Given the description of an element on the screen output the (x, y) to click on. 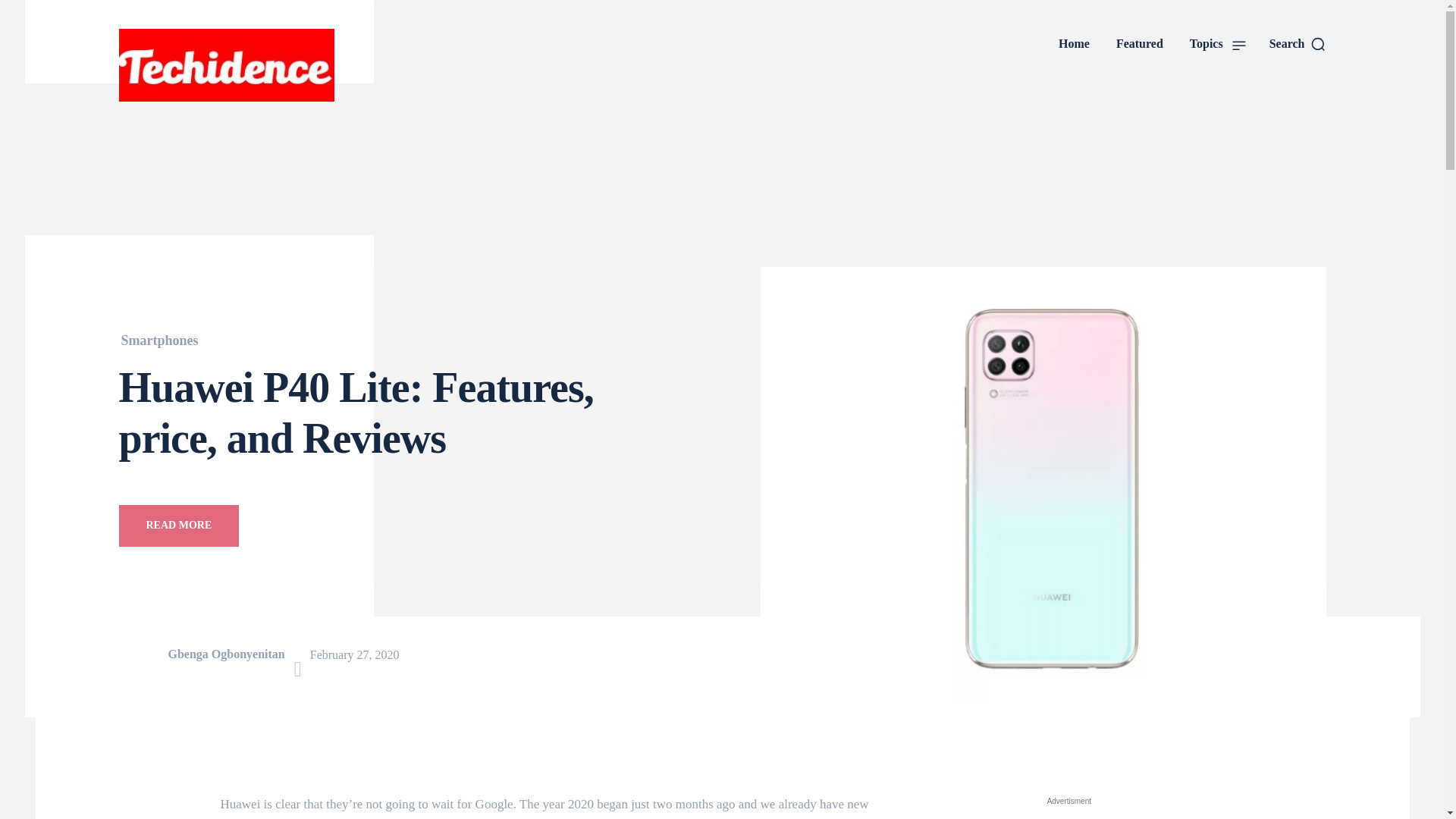
Topics (1218, 43)
Techidence Logo (225, 64)
Home (1073, 43)
Featured (1139, 43)
Techidence Logo (255, 64)
